Given the description of an element on the screen output the (x, y) to click on. 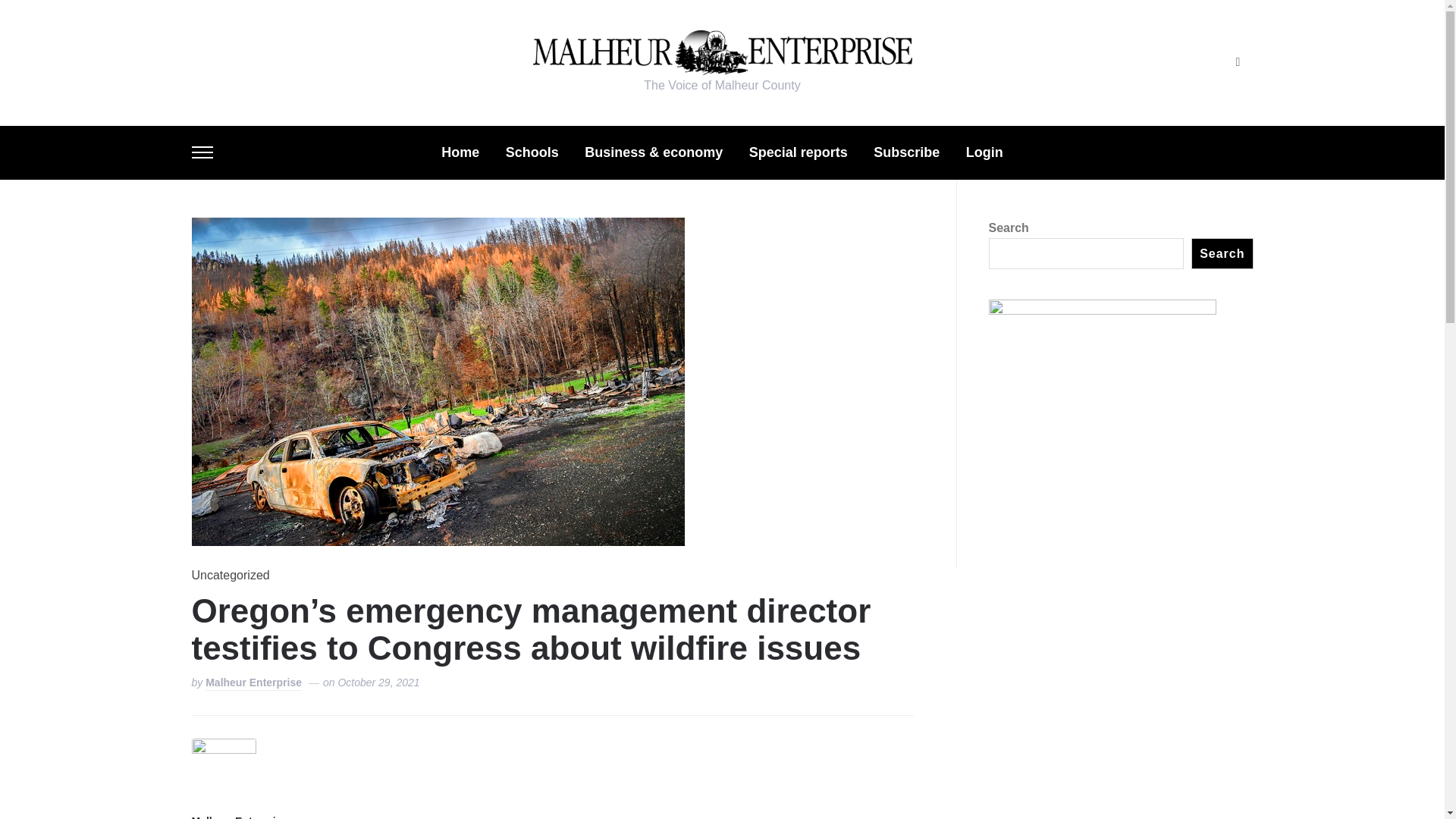
Login (984, 152)
Posts by Malheur Enterprise (238, 816)
Search (1237, 62)
Posts by Malheur Enterprise (253, 683)
Malheur Enterprise (253, 683)
Malheur Enterprise (238, 816)
Special reports (798, 152)
Home (460, 152)
Subscribe (906, 152)
Schools (532, 152)
